Given the description of an element on the screen output the (x, y) to click on. 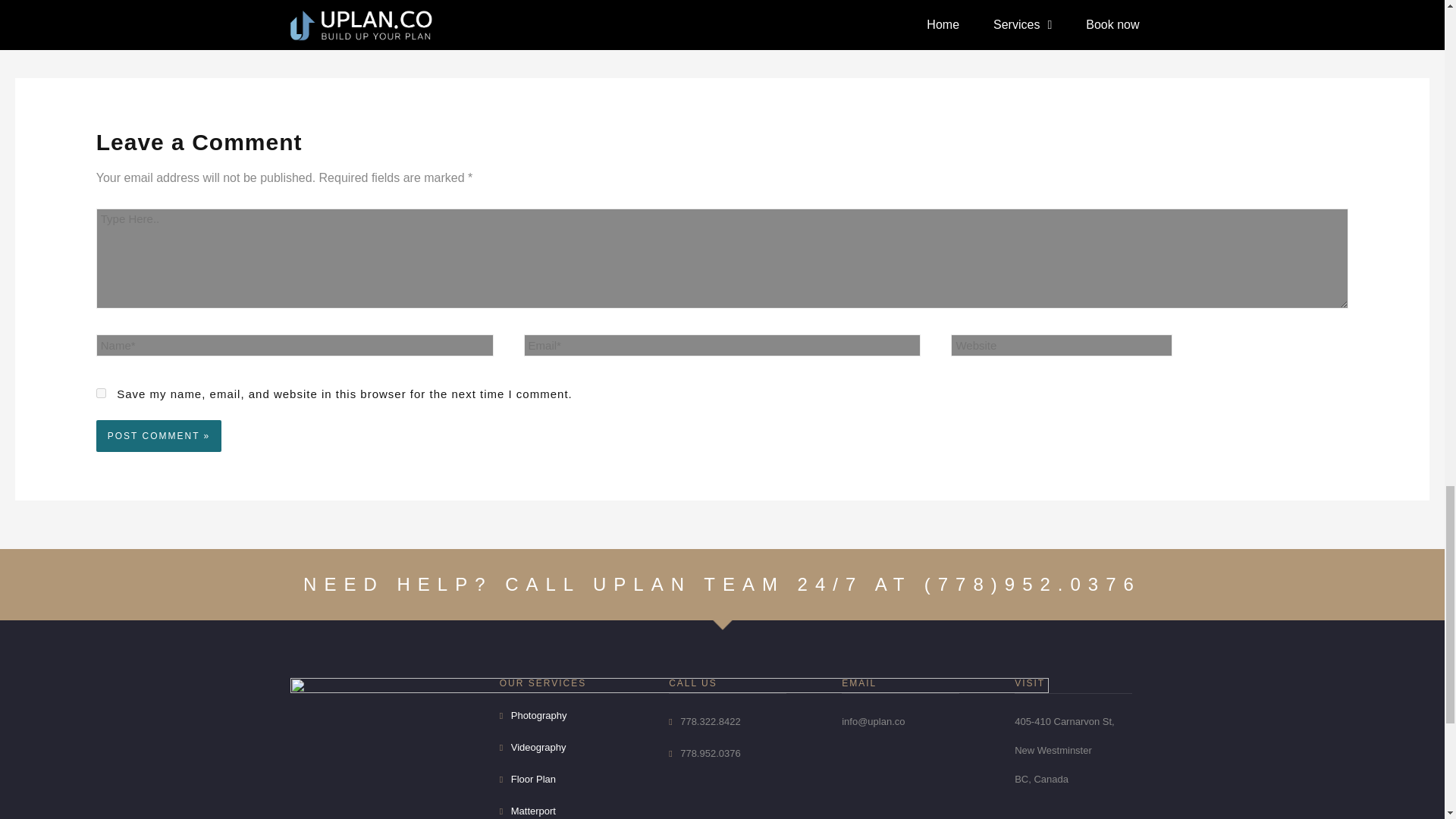
yes (101, 393)
